Given the description of an element on the screen output the (x, y) to click on. 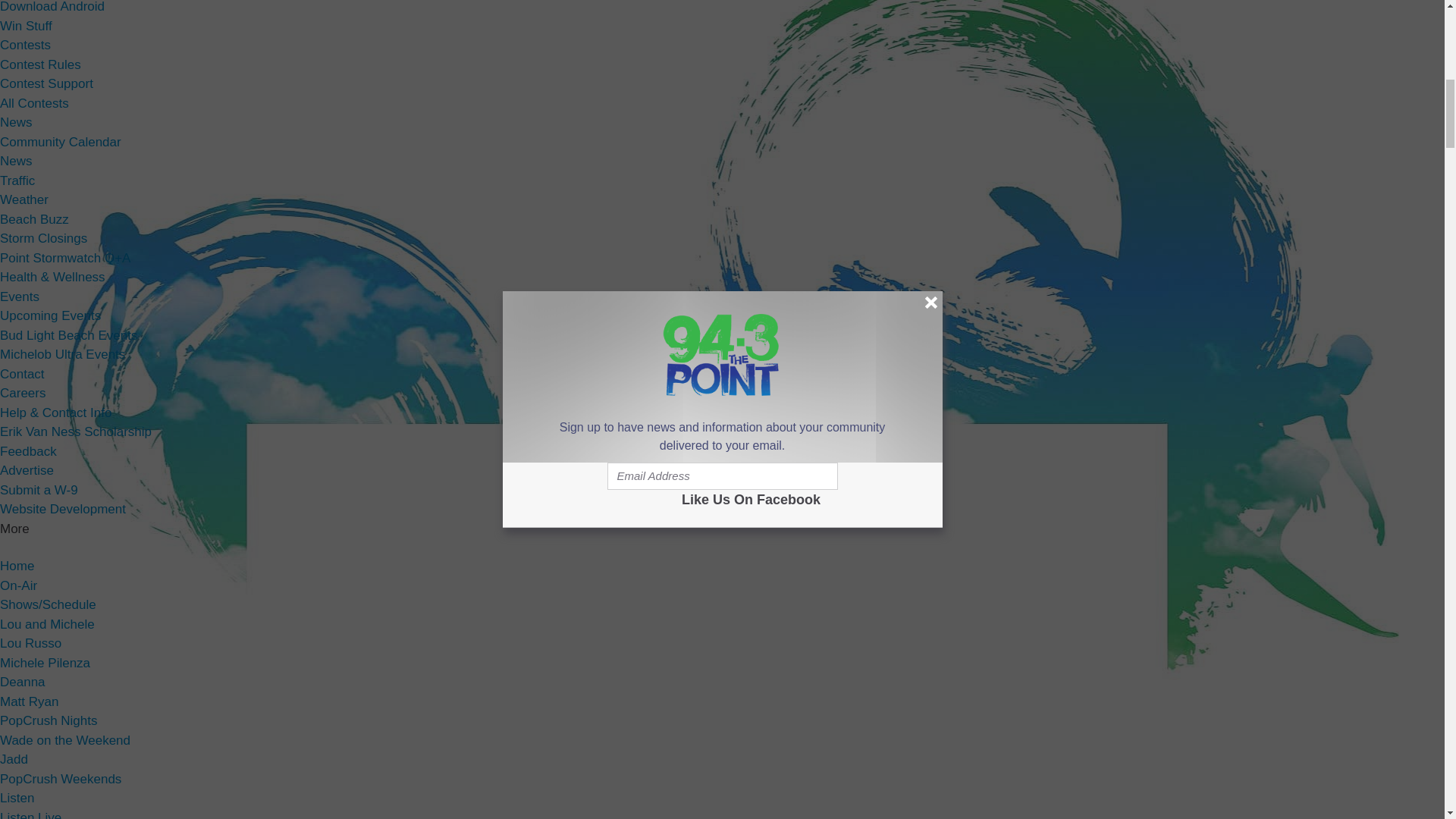
All Contests (34, 102)
Community Calendar (60, 142)
Contest Support (46, 83)
Win Stuff (26, 25)
News (16, 122)
Download Android (52, 6)
Contests (25, 44)
News (16, 160)
Contest Rules (40, 64)
